Given the description of an element on the screen output the (x, y) to click on. 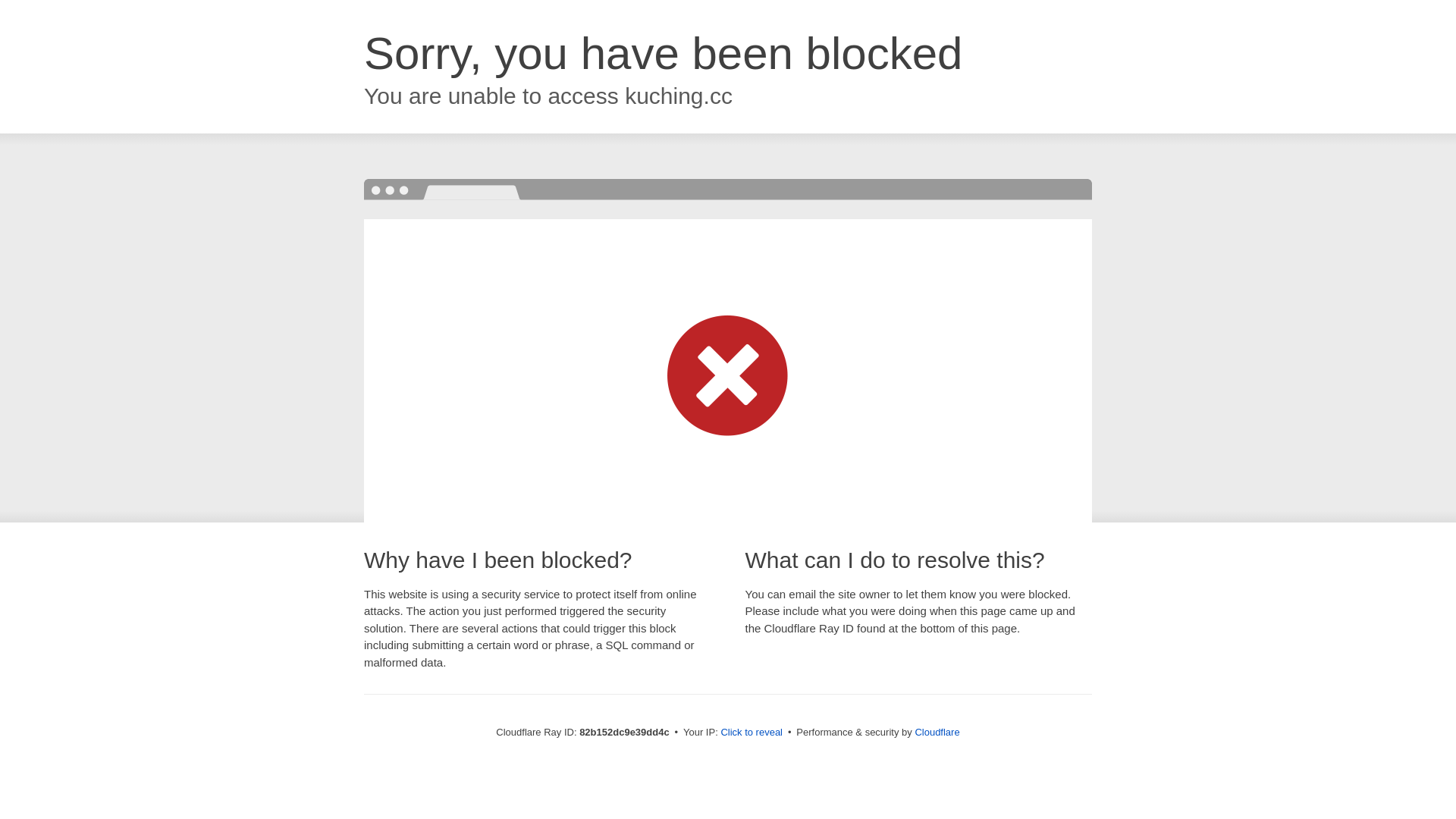
Cloudflare Element type: text (936, 731)
Click to reveal Element type: text (751, 732)
